Given the description of an element on the screen output the (x, y) to click on. 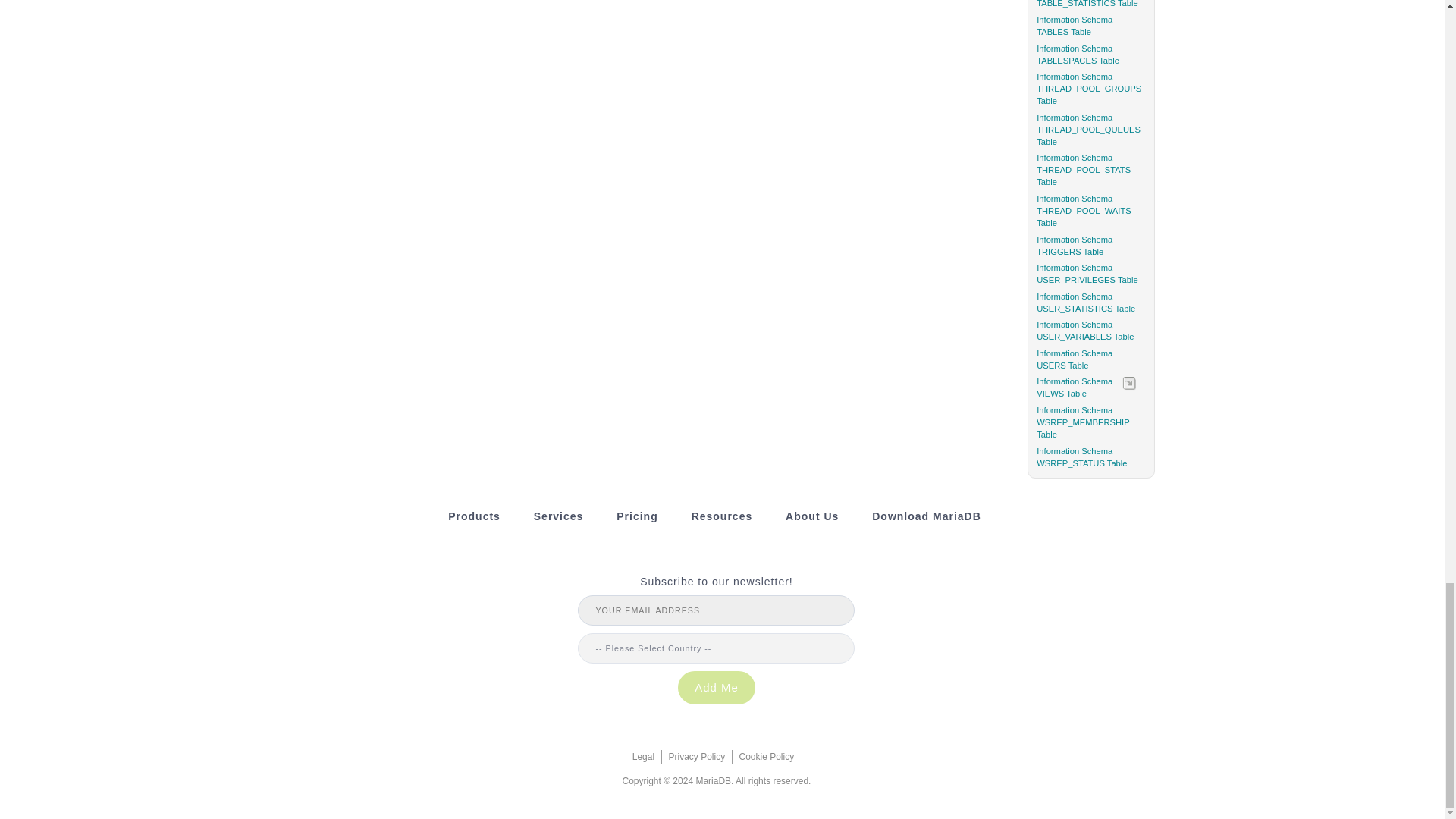
Resources (721, 516)
Services (558, 516)
Products (474, 516)
Pricing (636, 516)
